Given the description of an element on the screen output the (x, y) to click on. 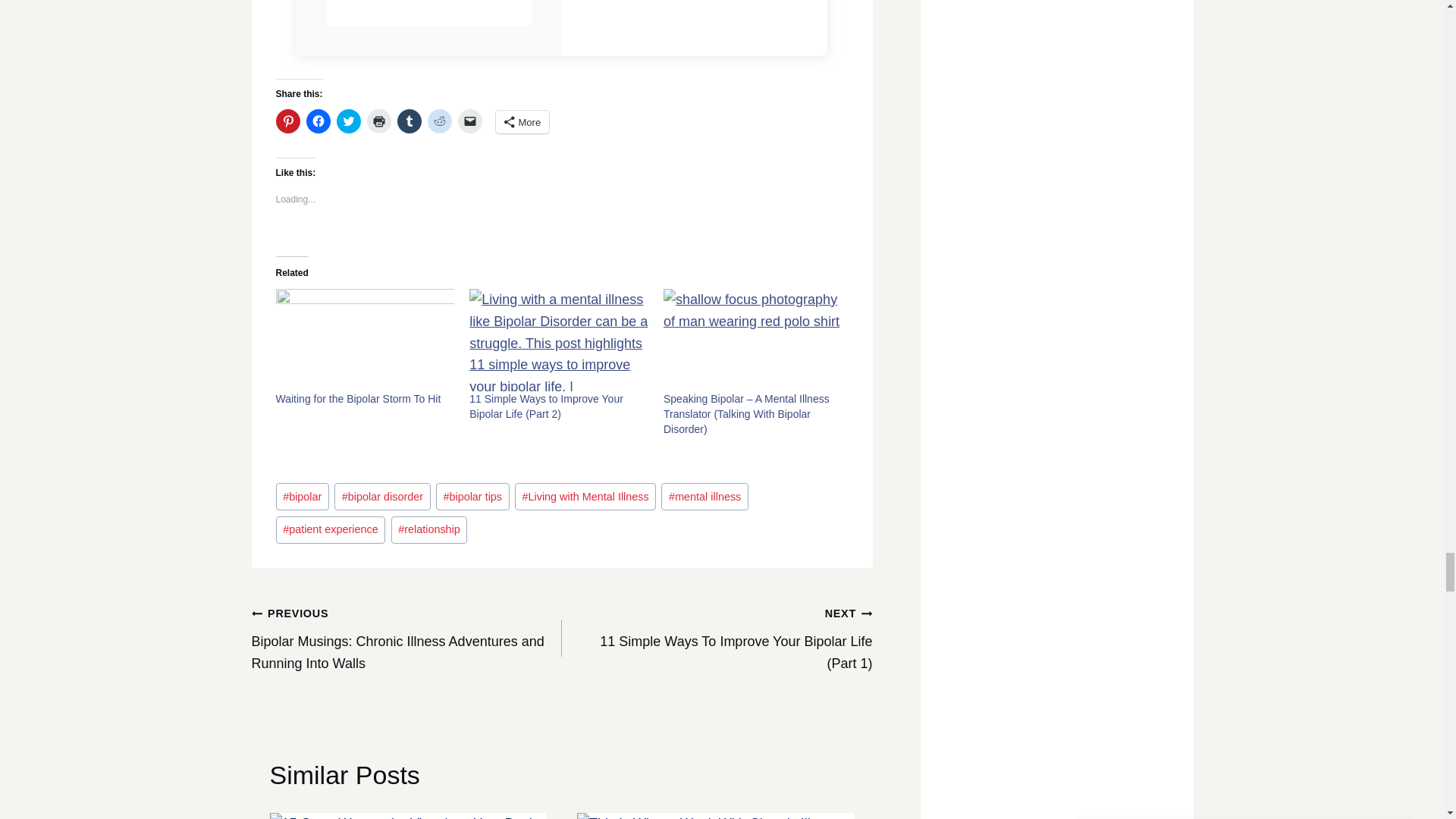
Waiting for the Bipolar Storm To Hit (358, 398)
Click to share on Pinterest (287, 120)
Click to share on Twitter (348, 120)
Click to share on Reddit (439, 120)
Click to share on Facebook (317, 120)
Click to email a link to a friend (469, 120)
Waiting for the Bipolar Storm To Hit (365, 340)
Click to print (378, 120)
Click to share on Tumblr (409, 120)
